Given the description of an element on the screen output the (x, y) to click on. 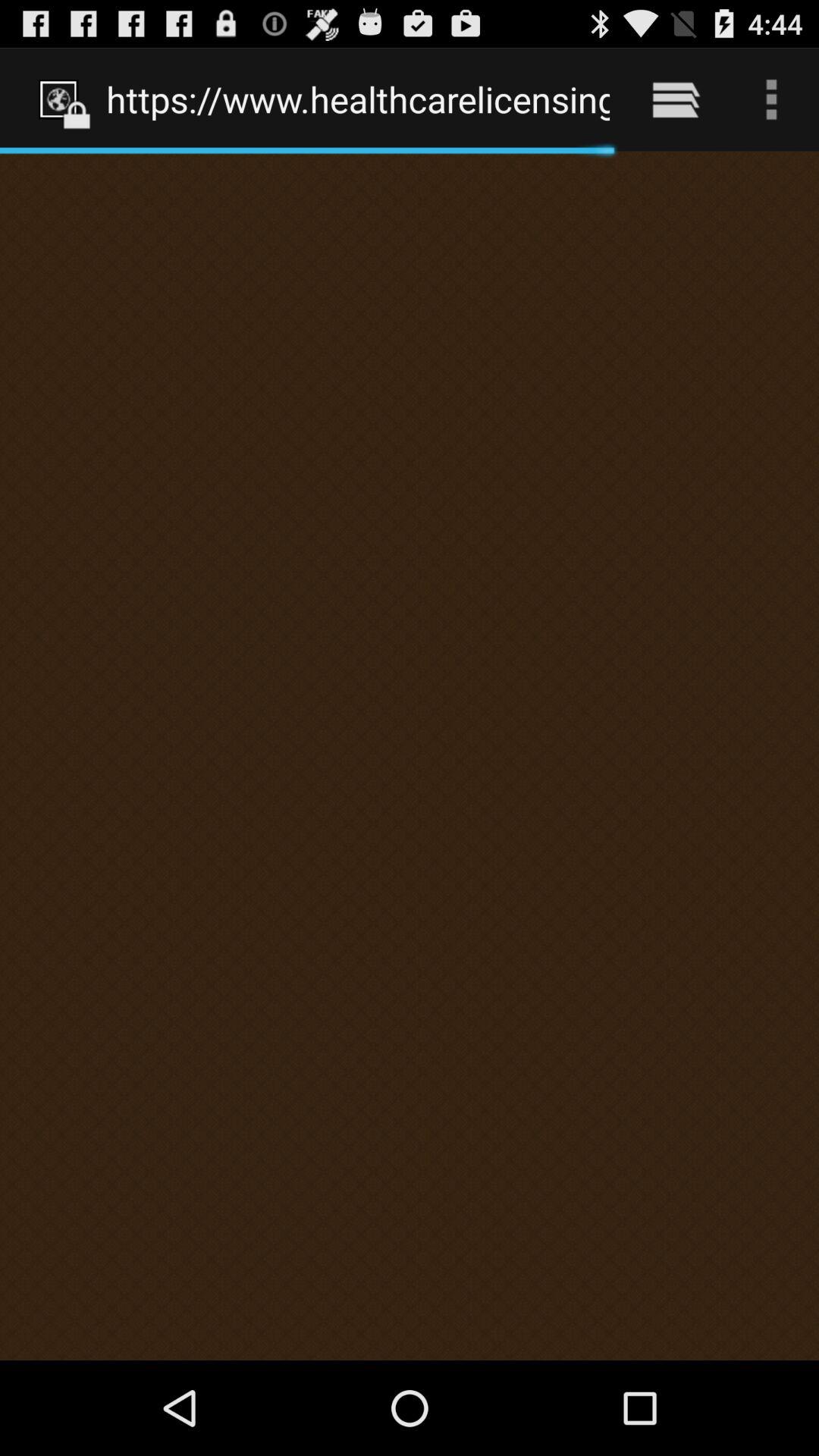
click the item next to the https www healthcarelicensing icon (675, 99)
